Given the description of an element on the screen output the (x, y) to click on. 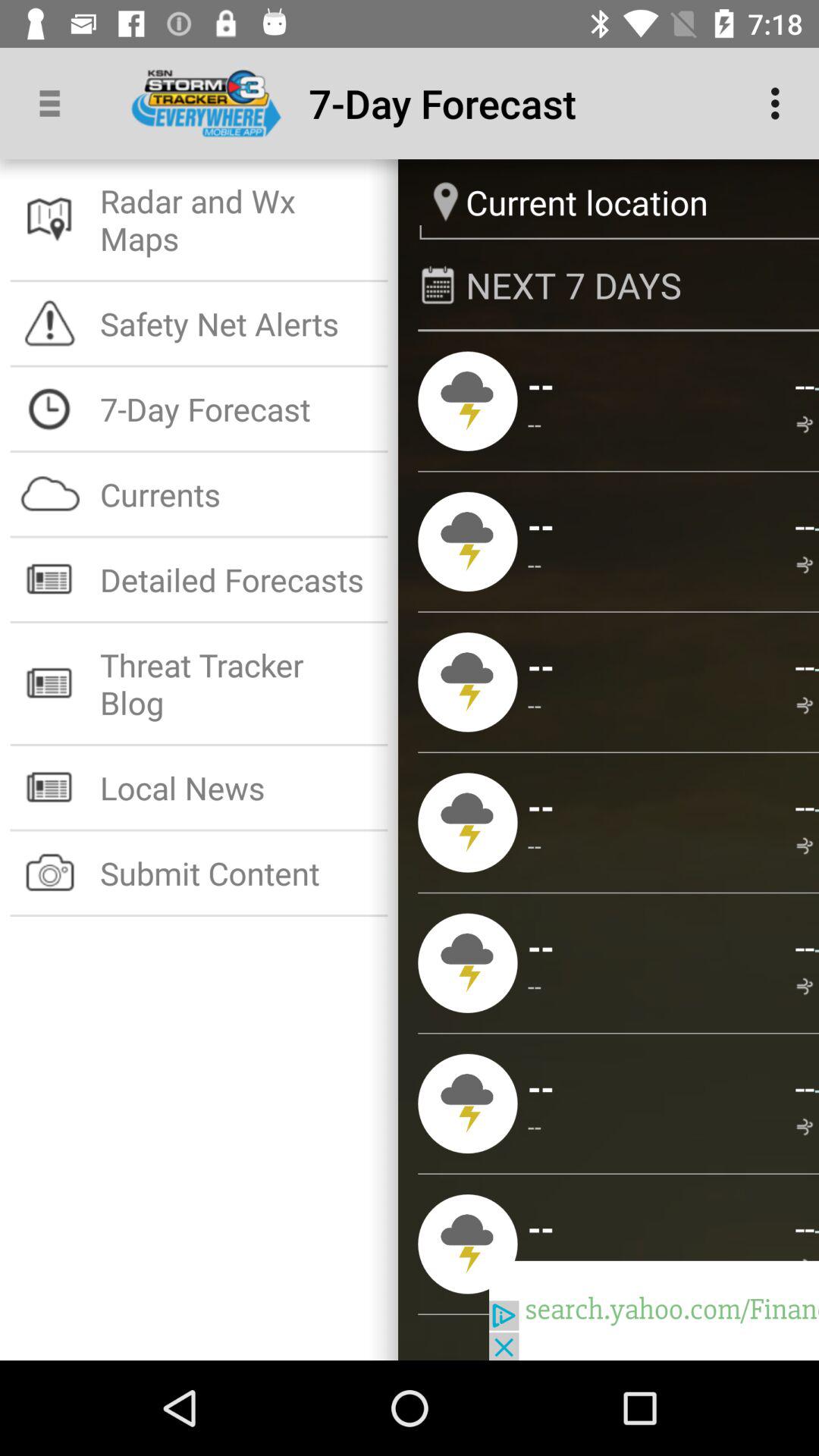
tap item above the -- (816, 526)
